Given the description of an element on the screen output the (x, y) to click on. 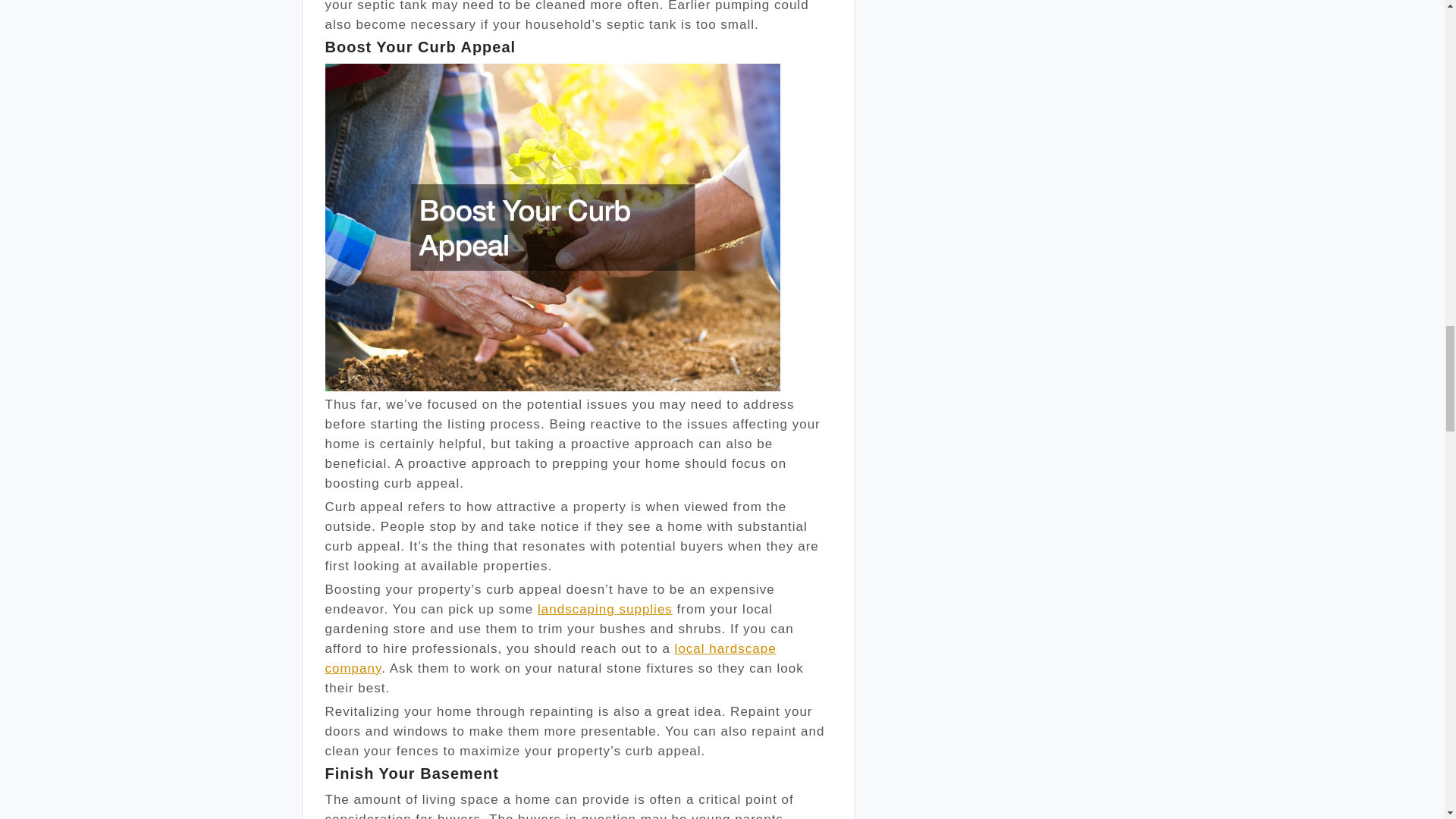
local hardscape company (550, 658)
landscaping supplies (604, 608)
